Given the description of an element on the screen output the (x, y) to click on. 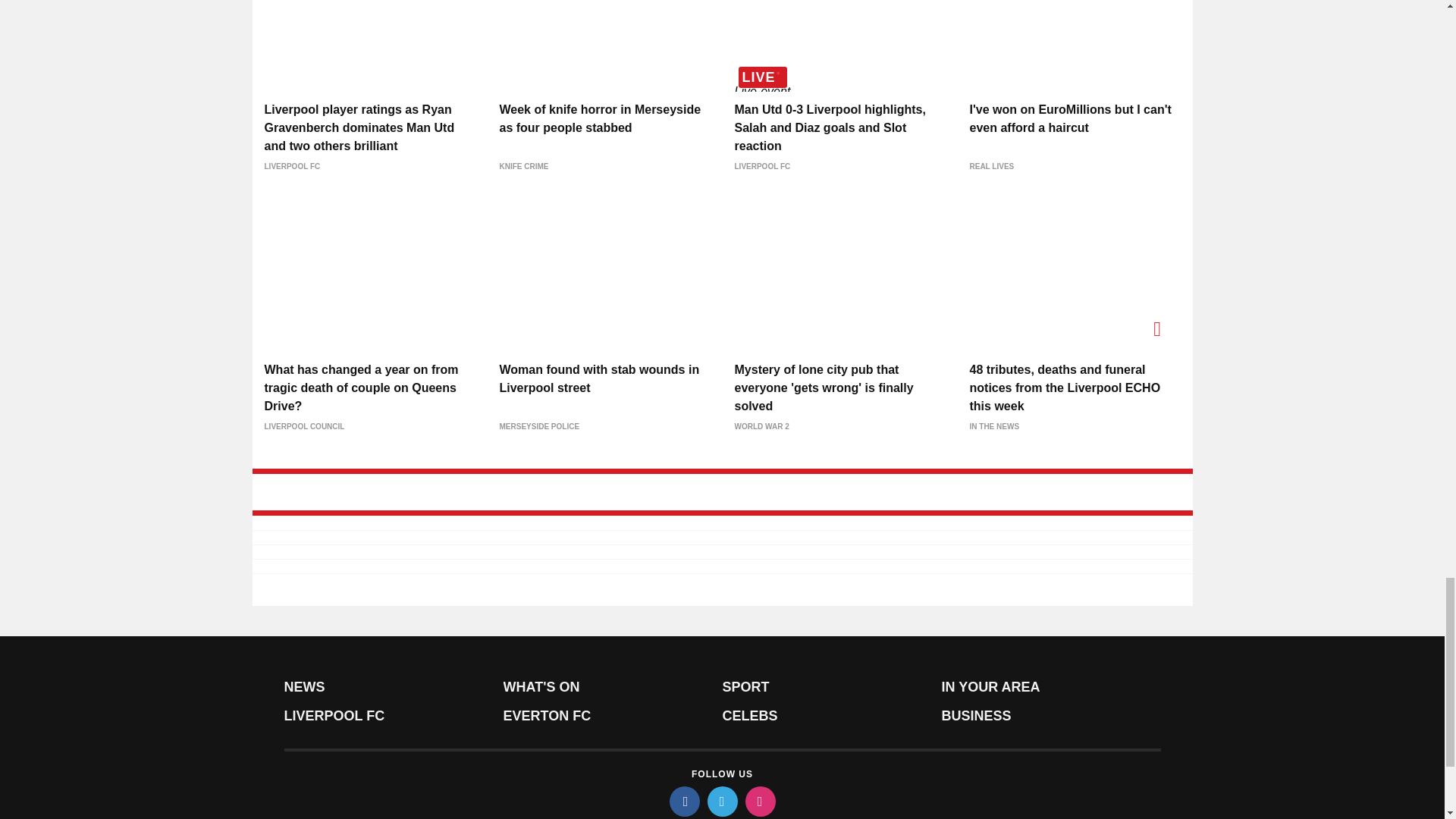
instagram (759, 801)
twitter (721, 801)
facebook (683, 801)
